Given the description of an element on the screen output the (x, y) to click on. 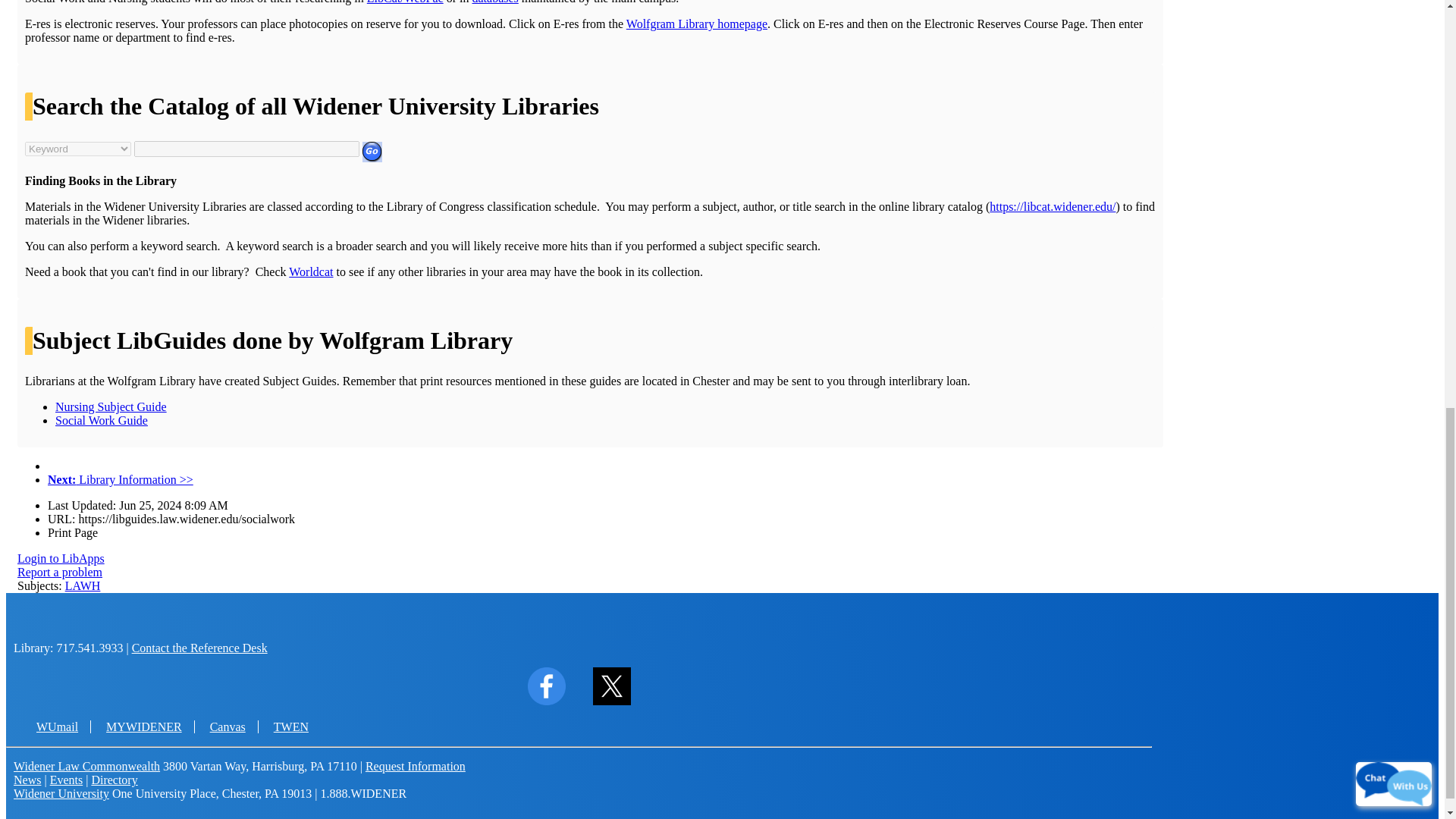
Submit (371, 151)
Social Work Guide (101, 420)
Print Page (72, 532)
Wolfgram Library homepage (696, 23)
Facebook (546, 700)
databases (494, 2)
Login to LibApps (60, 558)
wolfgram databases (494, 2)
Twitter (611, 700)
wolfgram (696, 23)
Report a problem (59, 571)
Nursing Subject Guide (111, 406)
libcat (405, 2)
Worldcat (310, 271)
LAWH (82, 585)
